Given the description of an element on the screen output the (x, y) to click on. 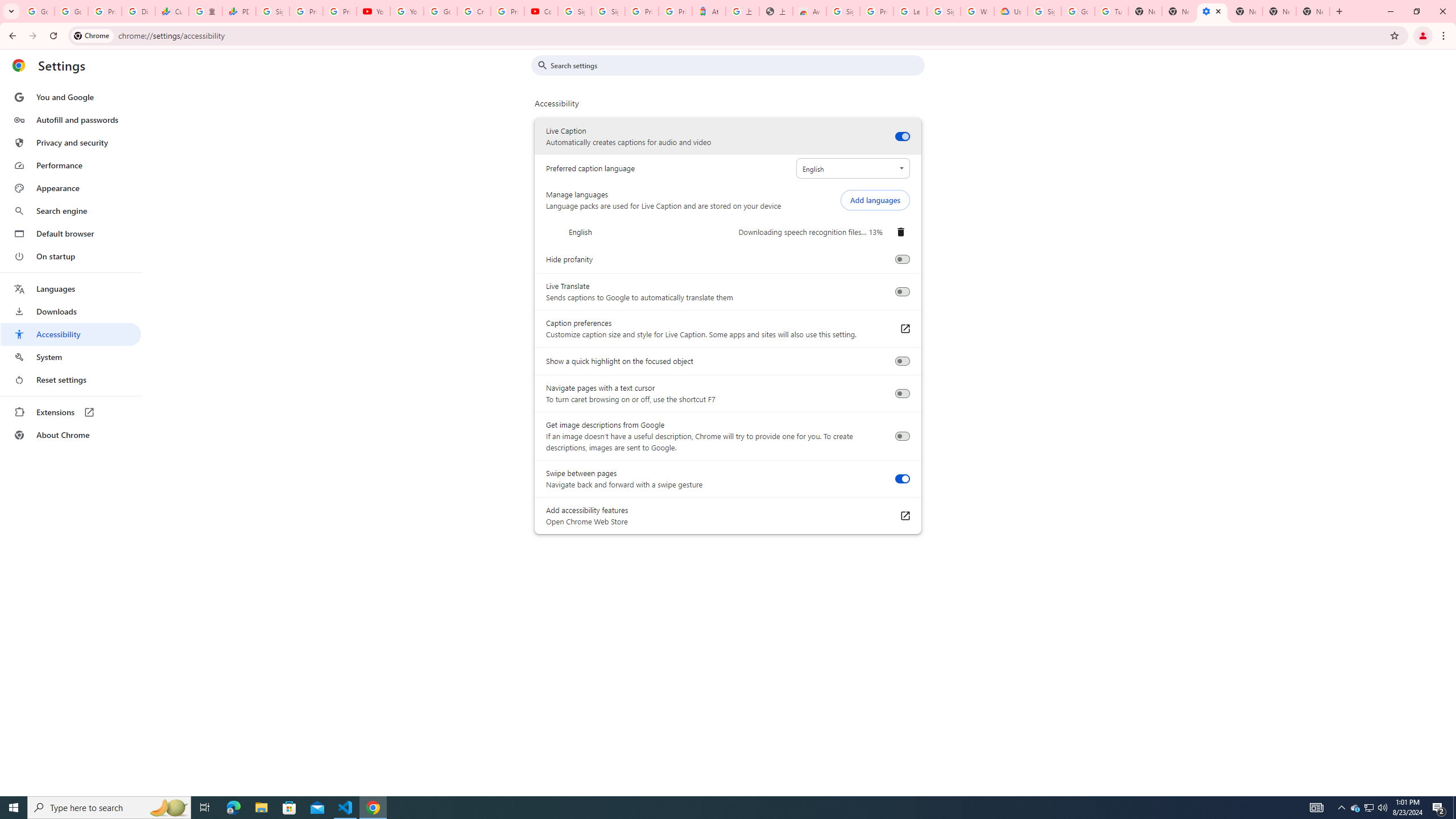
Downloads (70, 311)
Create your Google Account (474, 11)
Search settings (735, 65)
Privacy Checkup (339, 11)
Live Caption (901, 136)
Sign in - Google Accounts (574, 11)
Sign in - Google Accounts (842, 11)
Accessibility (70, 333)
Sign in - Google Accounts (272, 11)
